Given the description of an element on the screen output the (x, y) to click on. 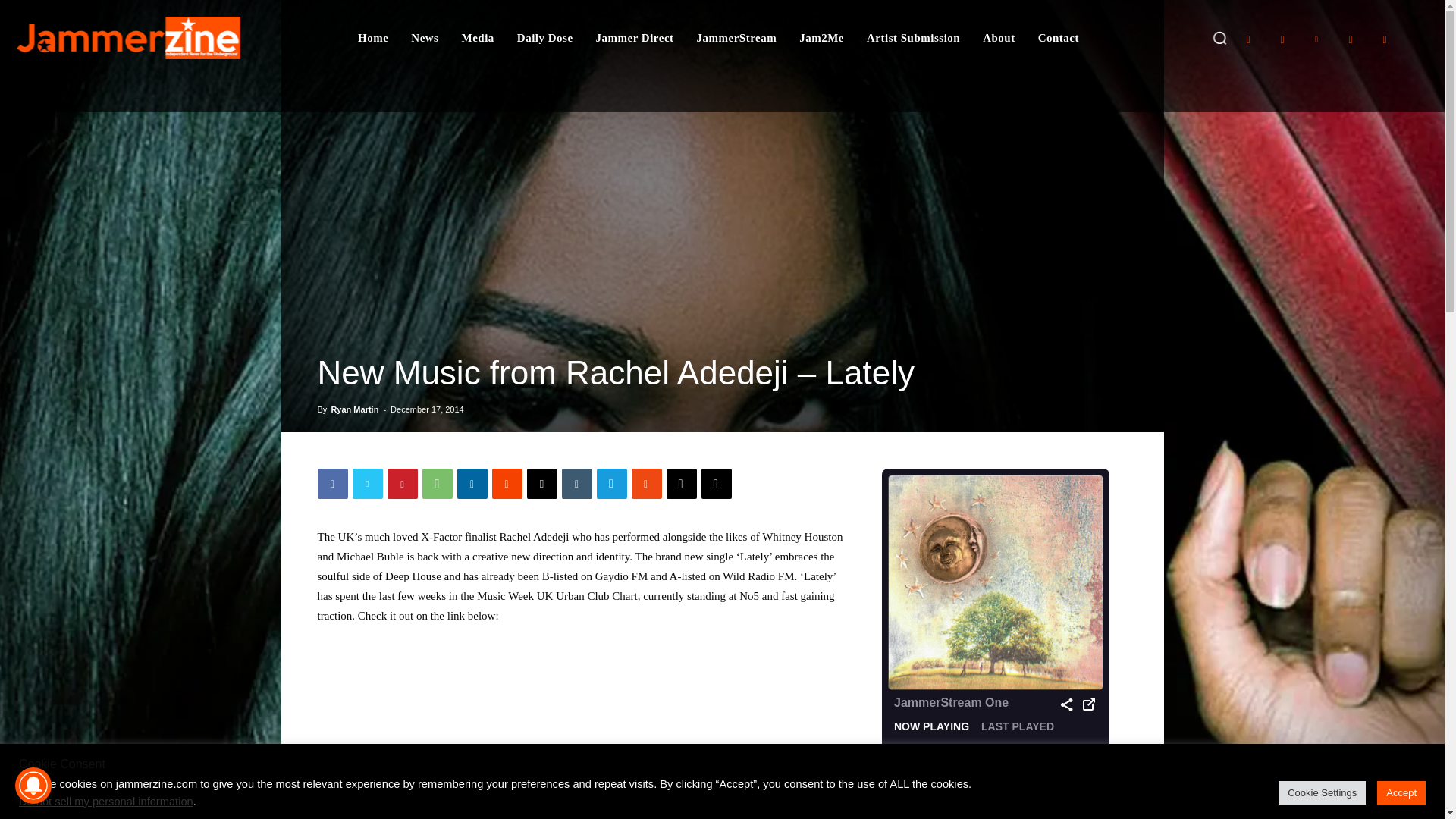
Jammerzine (127, 37)
